Given the description of an element on the screen output the (x, y) to click on. 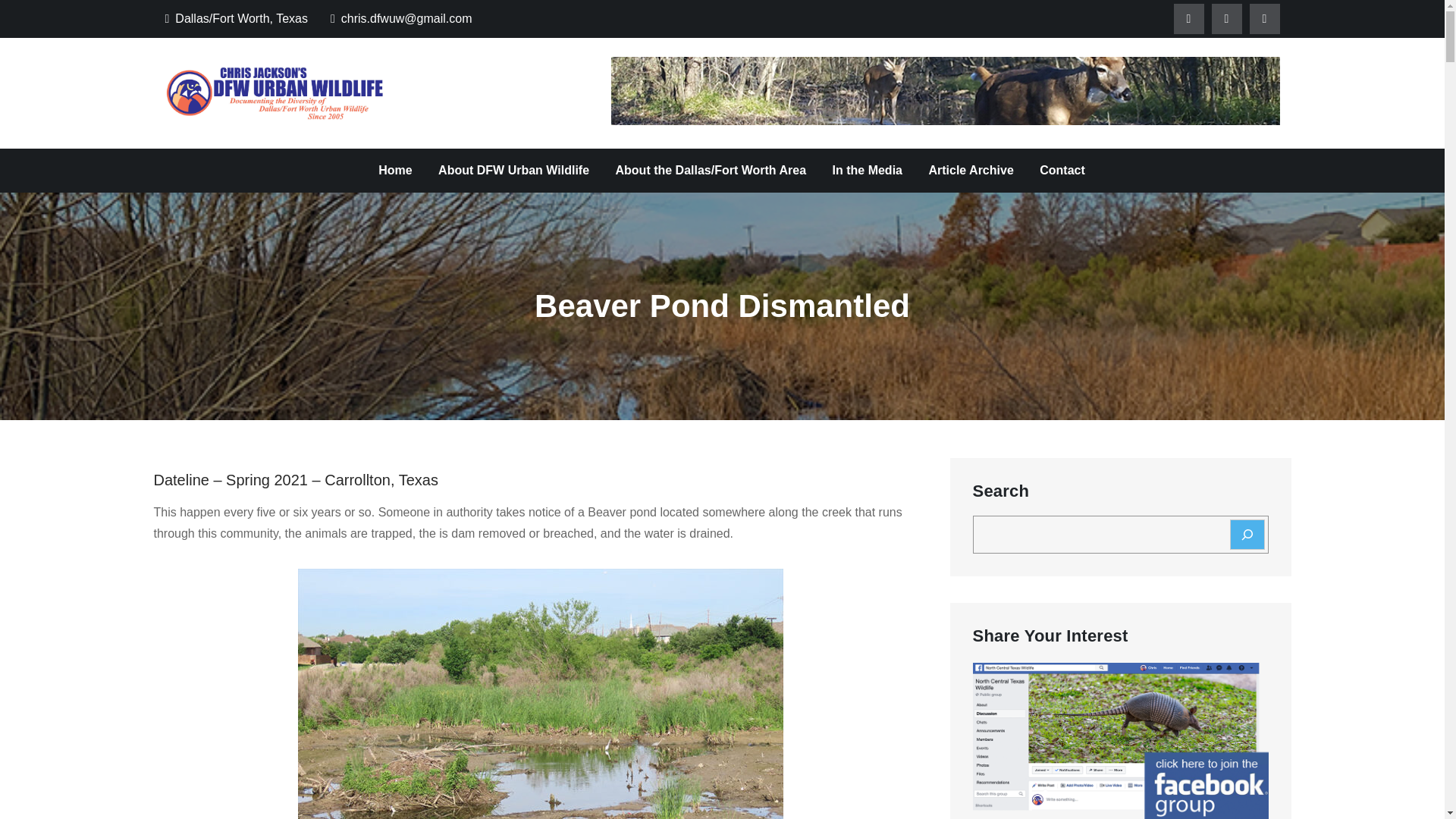
Home (394, 170)
Contact (1061, 170)
Article Archive (971, 170)
About DFW Urban Wildlife (512, 170)
In the Media (867, 170)
DFW Urban Wildlife (509, 108)
